Given the description of an element on the screen output the (x, y) to click on. 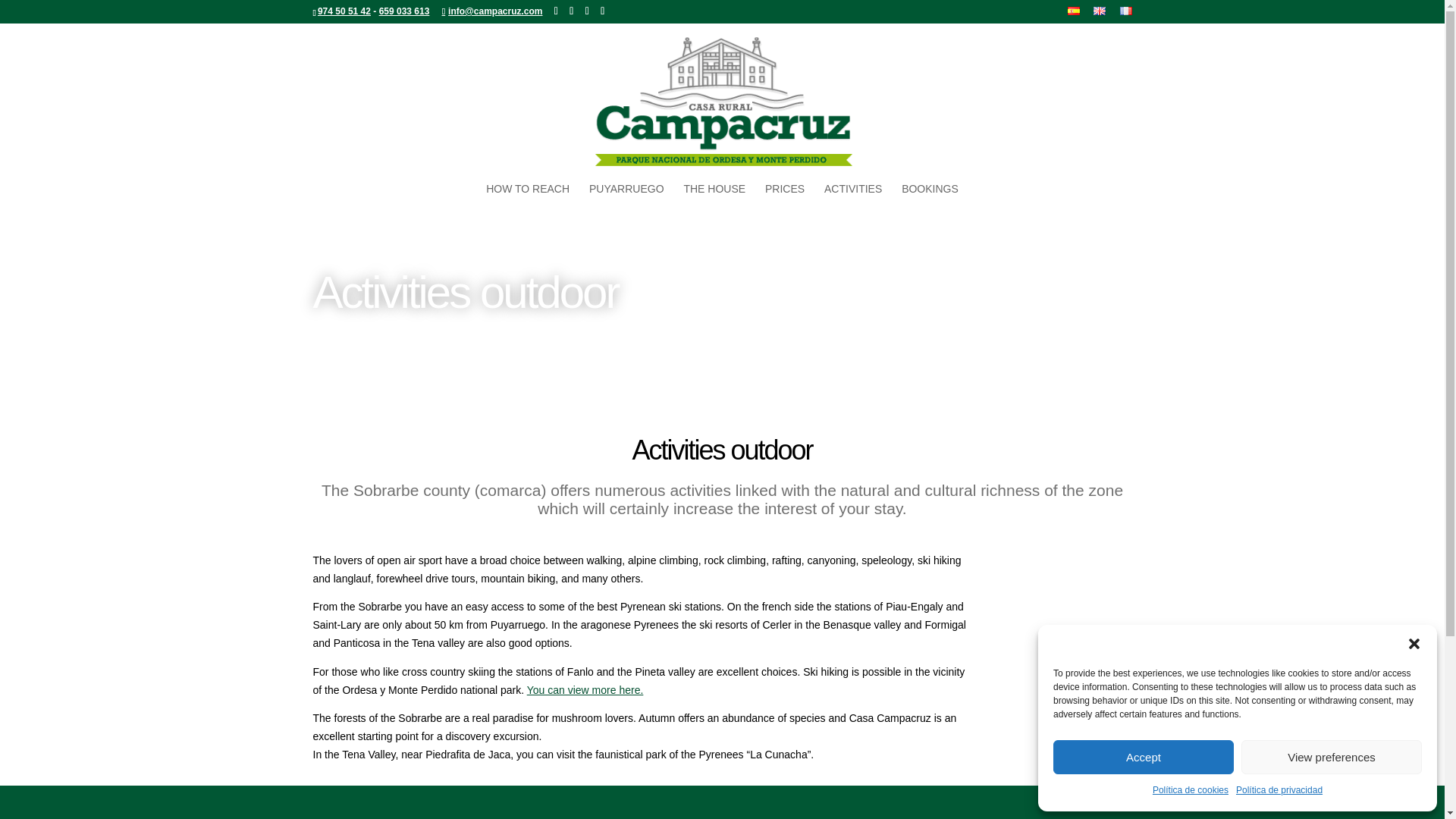
PRICES (785, 202)
ACTIVITIES (853, 202)
HOW TO REACH (527, 202)
PUYARRUEGO (626, 202)
View preferences (1331, 756)
THE HOUSE (713, 202)
659 033 613 (403, 10)
Accept (1142, 756)
BOOKINGS (929, 202)
974 50 51 42 (344, 10)
